Given the description of an element on the screen output the (x, y) to click on. 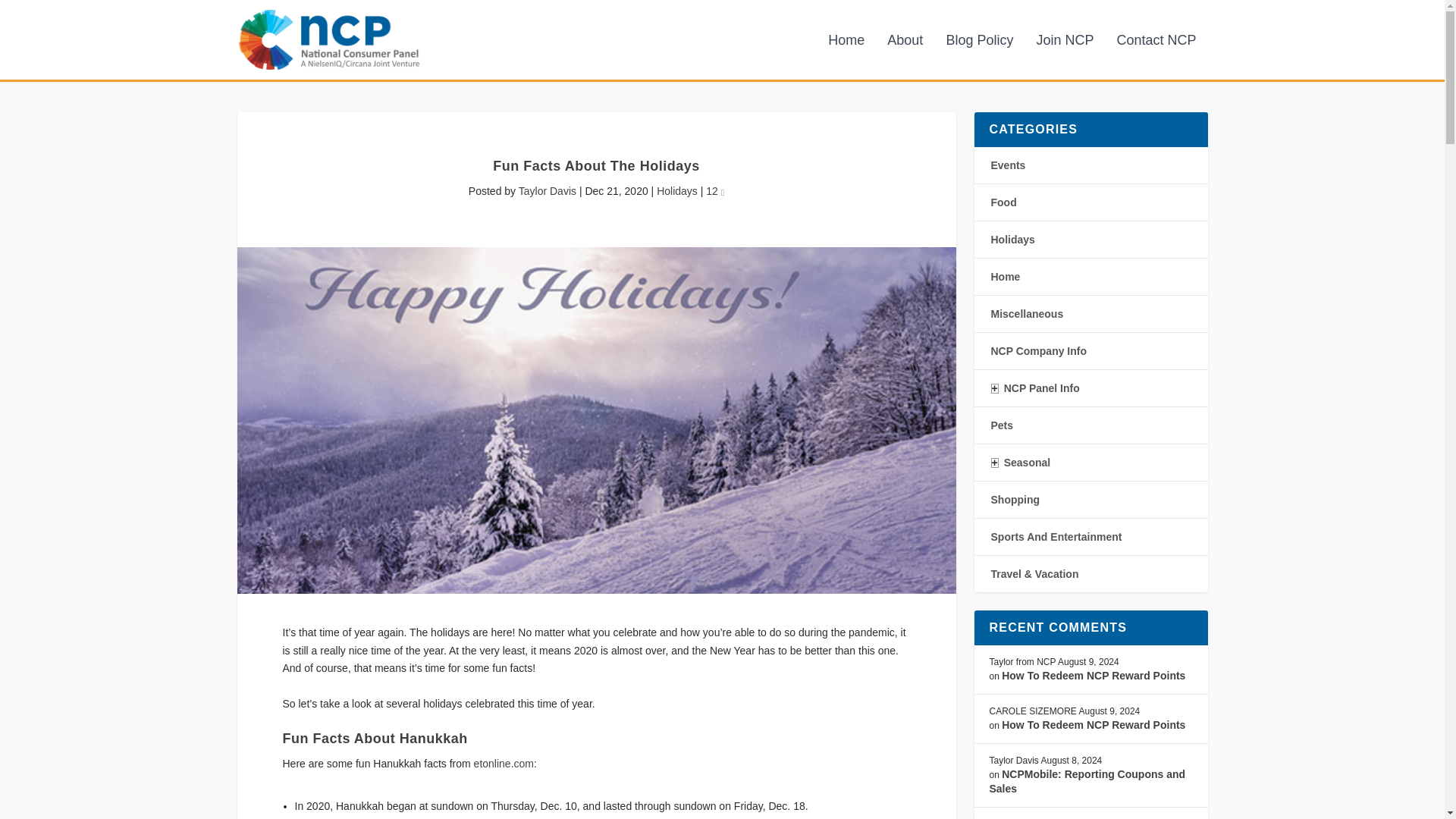
Posts by Taylor Davis (547, 191)
Contact NCP (1155, 56)
Want to join the fun? Join NCP today! (1064, 56)
Holidays (676, 191)
12 (714, 191)
etonline.com (504, 763)
Join NCP (1064, 56)
Taylor Davis (547, 191)
Blog Policy (978, 56)
